Given the description of an element on the screen output the (x, y) to click on. 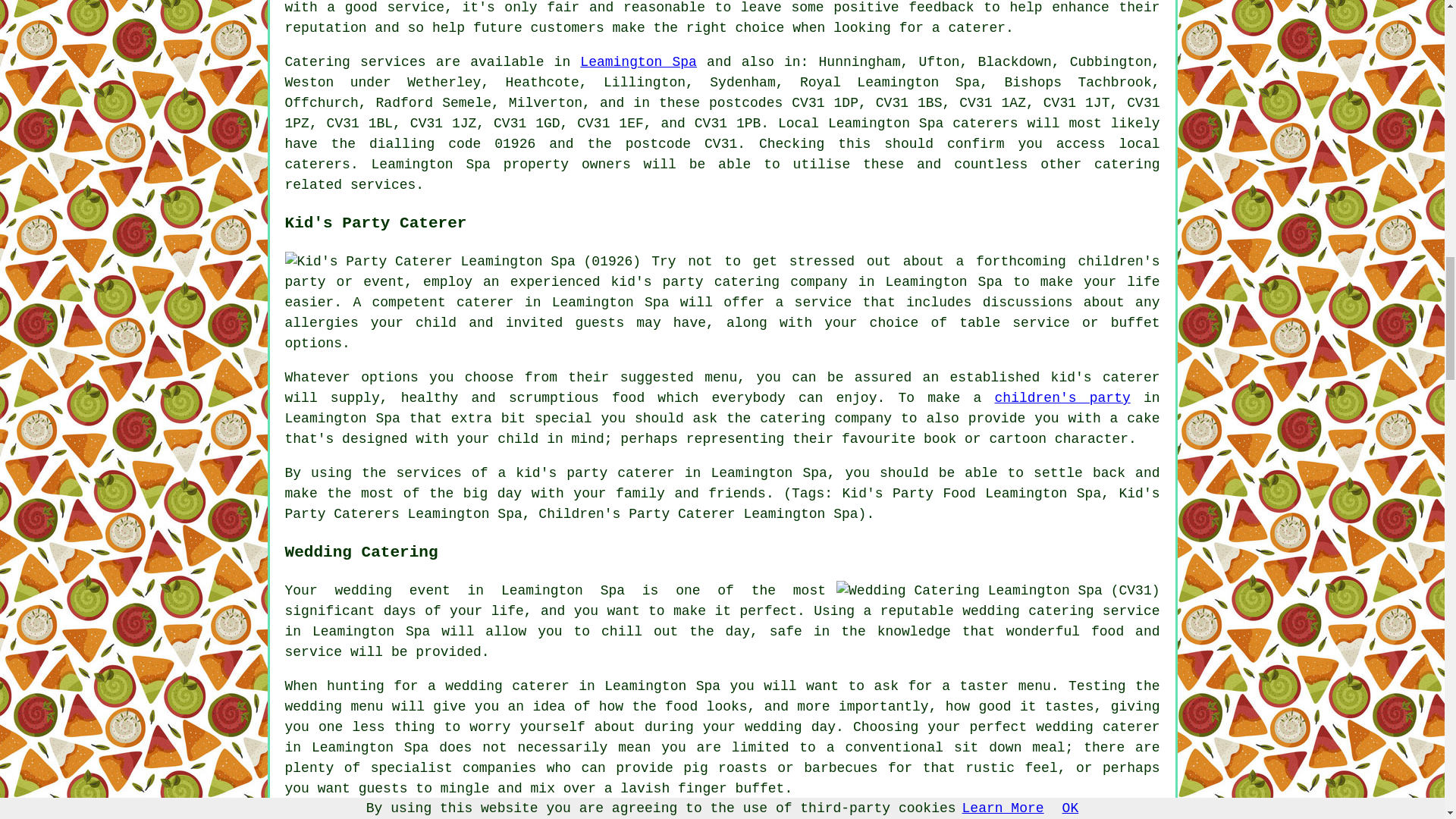
caterers (984, 123)
caterers (317, 164)
services (392, 61)
